Given the description of an element on the screen output the (x, y) to click on. 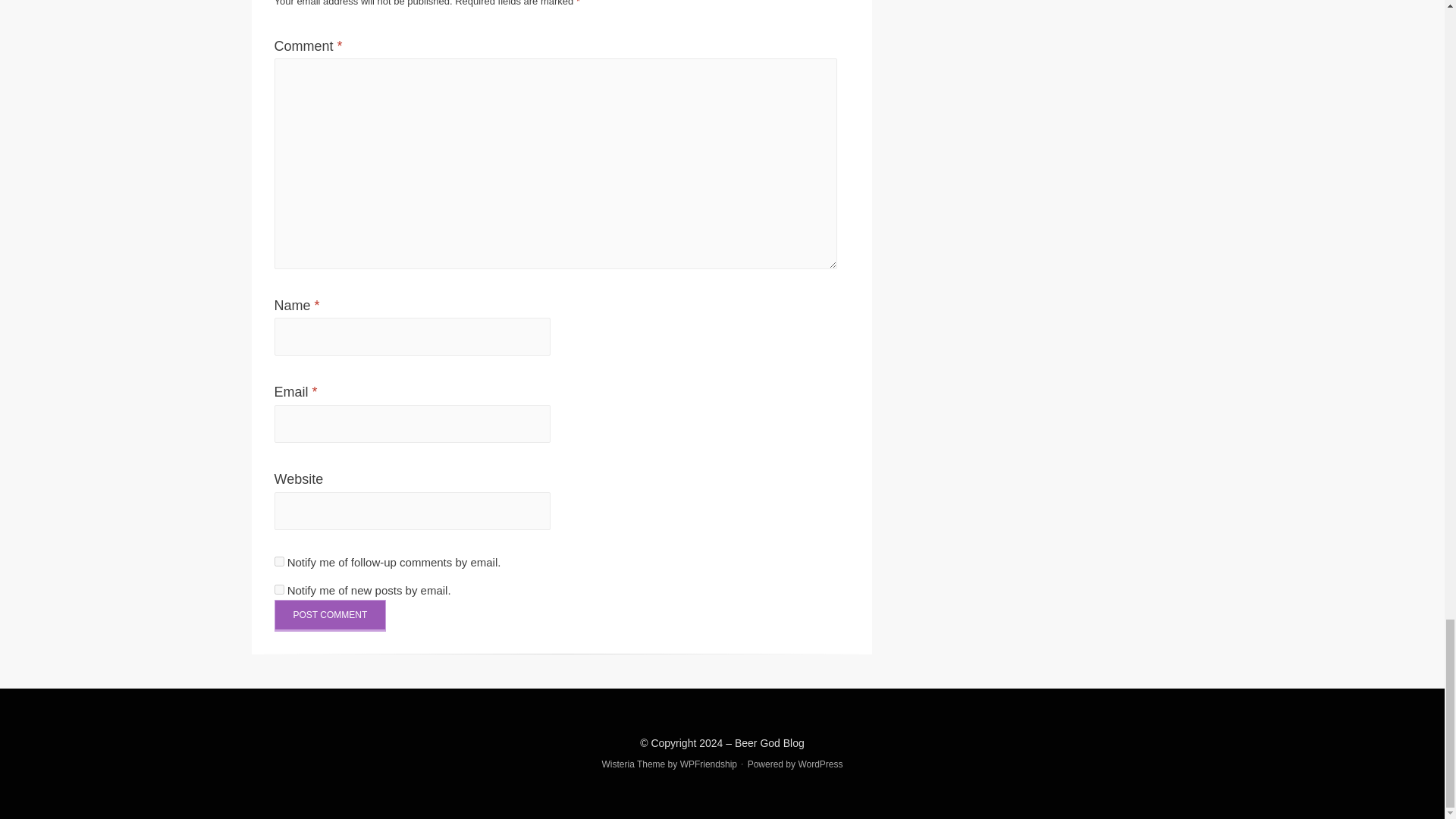
WordPress (820, 764)
WPFriendship (707, 764)
subscribe (279, 561)
Post Comment (331, 615)
subscribe (279, 589)
